Given the description of an element on the screen output the (x, y) to click on. 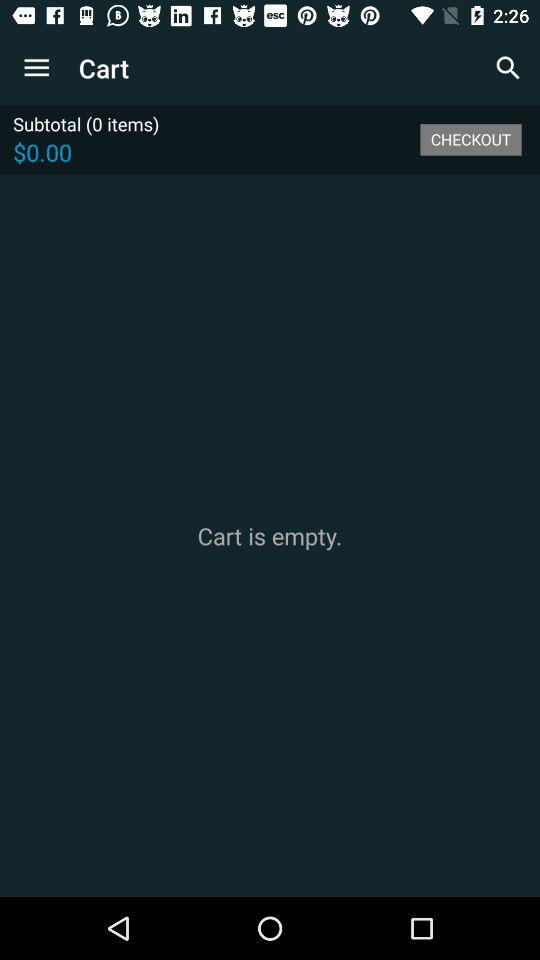
click the icon to the right of the subtotal (0 items) (470, 139)
